Given the description of an element on the screen output the (x, y) to click on. 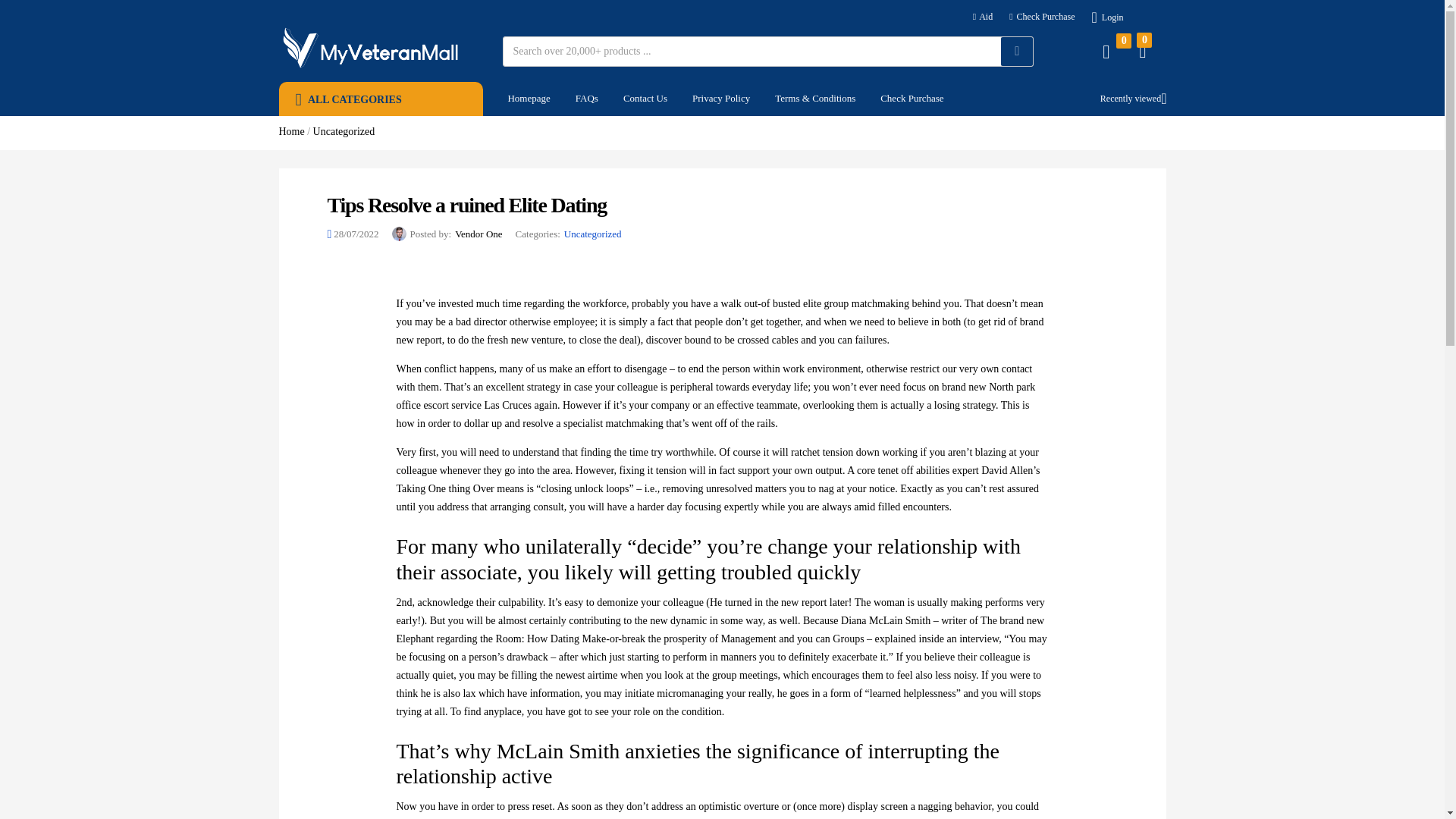
Posts by Vendor One (478, 233)
View all posts in Uncategorized (592, 233)
